Given the description of an element on the screen output the (x, y) to click on. 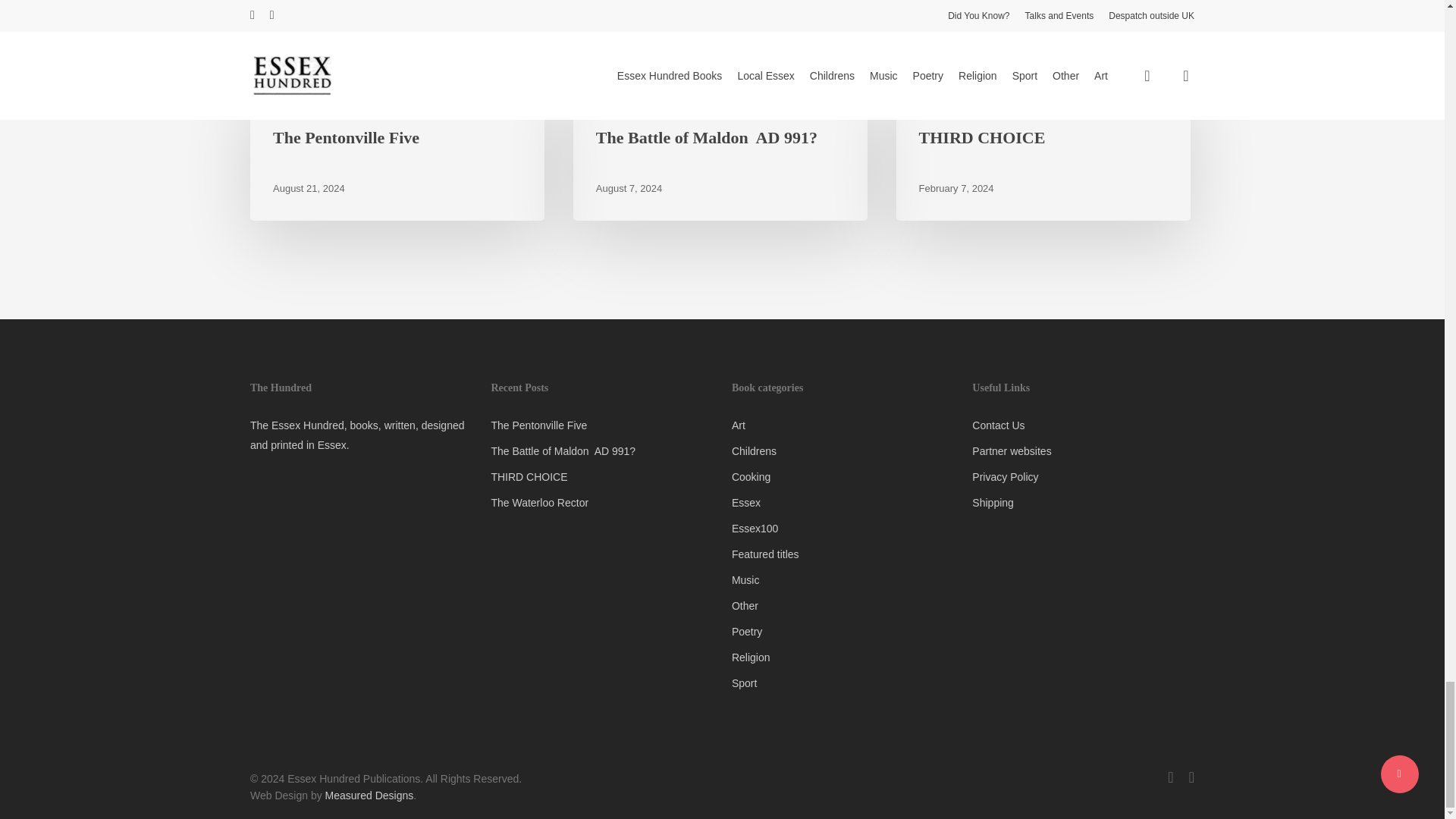
Did You Know? (633, 102)
WordPress Web design (368, 795)
Did You Know? (311, 102)
Did You Know? (956, 102)
